Given the description of an element on the screen output the (x, y) to click on. 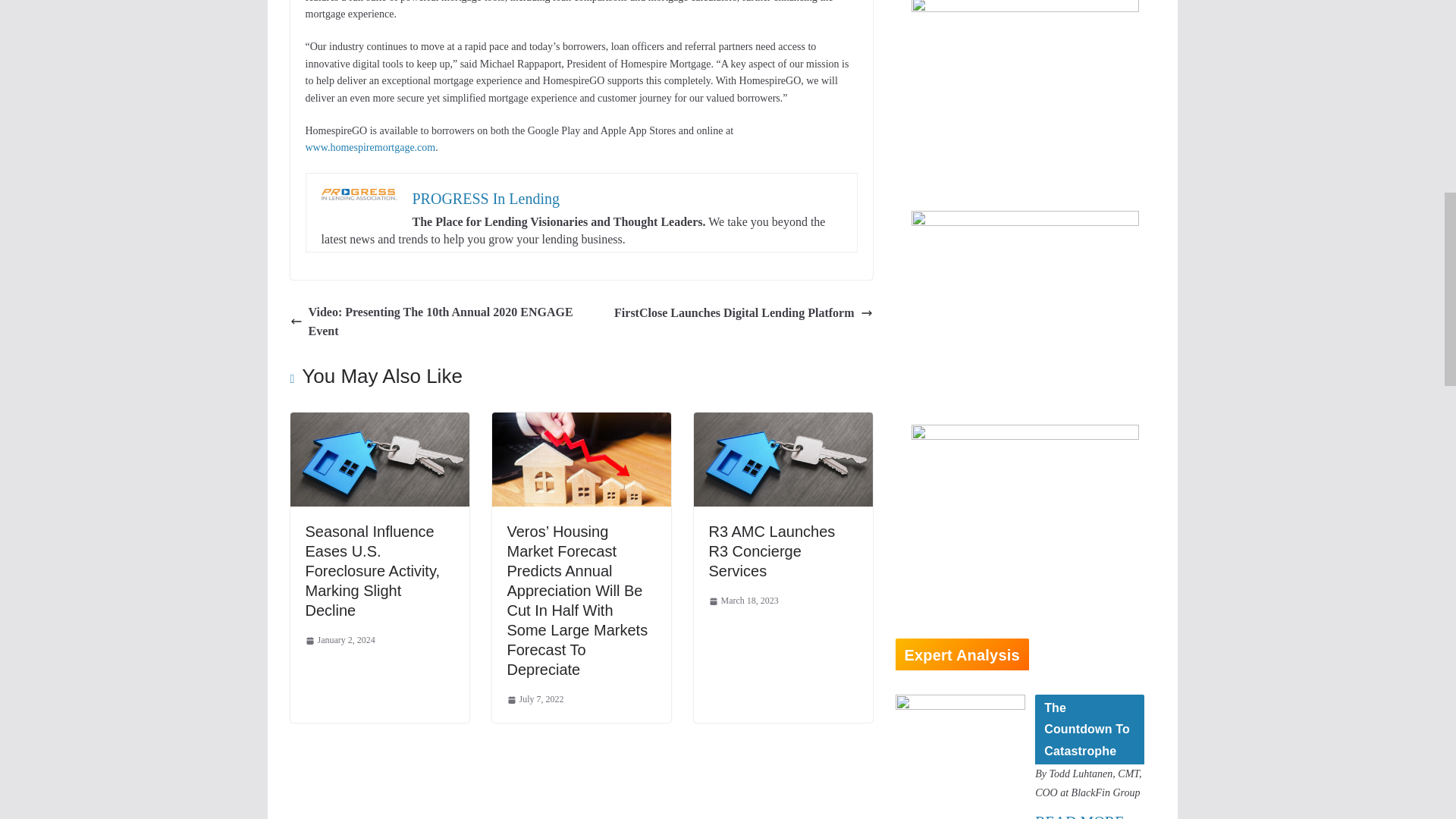
10:08 pm (339, 640)
FirstClose Launches Digital Lending Platform (743, 312)
www.homespiremortgage.com (369, 147)
PROGRESS In Lending (485, 198)
Video: Presenting The 10th Annual 2020 ENGAGE Event (431, 321)
